Given the description of an element on the screen output the (x, y) to click on. 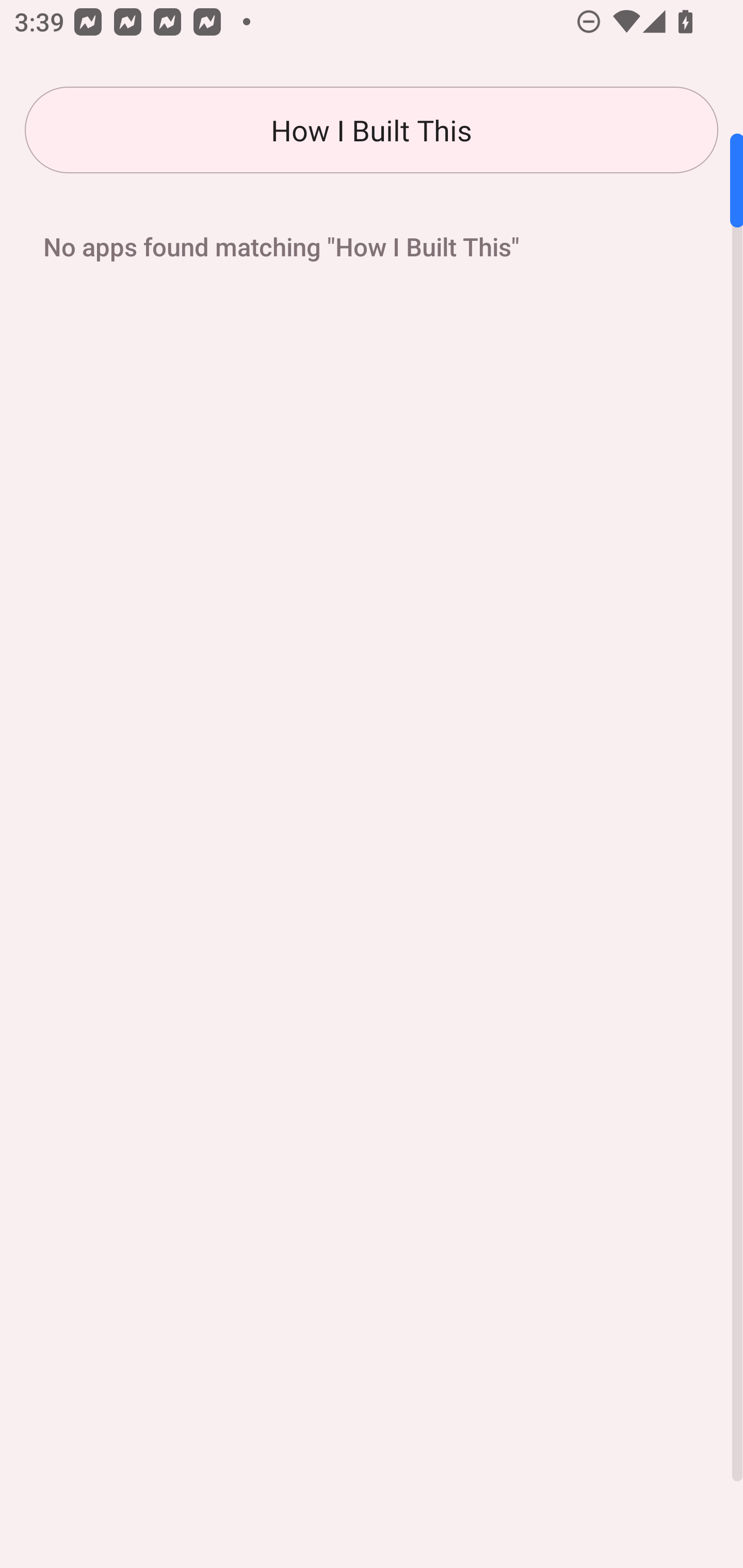
How I Built This (371, 130)
